Given the description of an element on the screen output the (x, y) to click on. 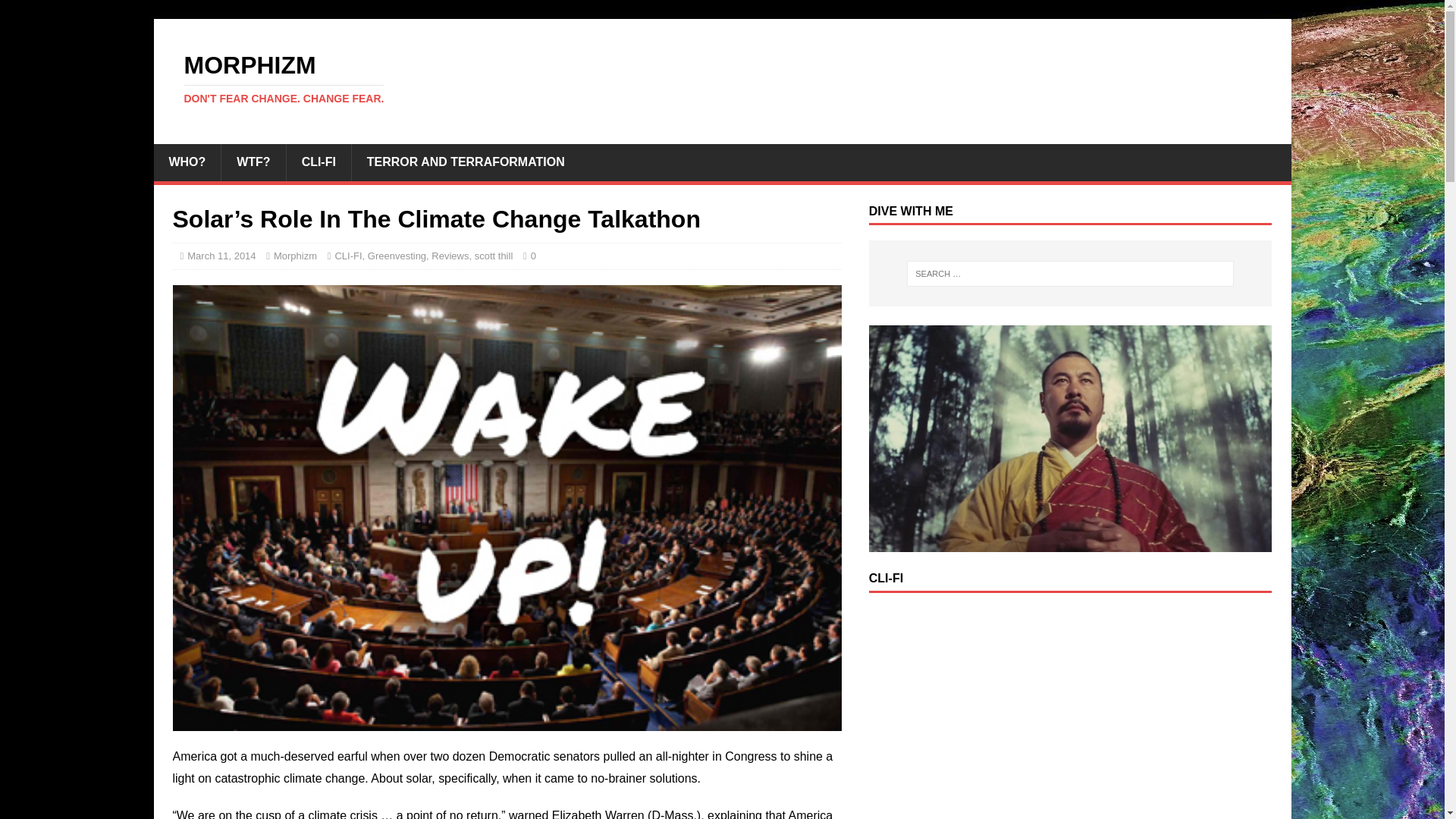
Reviews (449, 255)
YouTube video player (1070, 713)
morphizm (721, 78)
Greenvesting (721, 78)
scott thill (397, 255)
Search (493, 255)
CLI-FI (56, 11)
WHO? (347, 255)
TERROR AND TERRAFORMATION (186, 162)
Solar (464, 162)
WTF? (317, 162)
Morphizm (253, 162)
March 11, 2014 (295, 255)
